Given the description of an element on the screen output the (x, y) to click on. 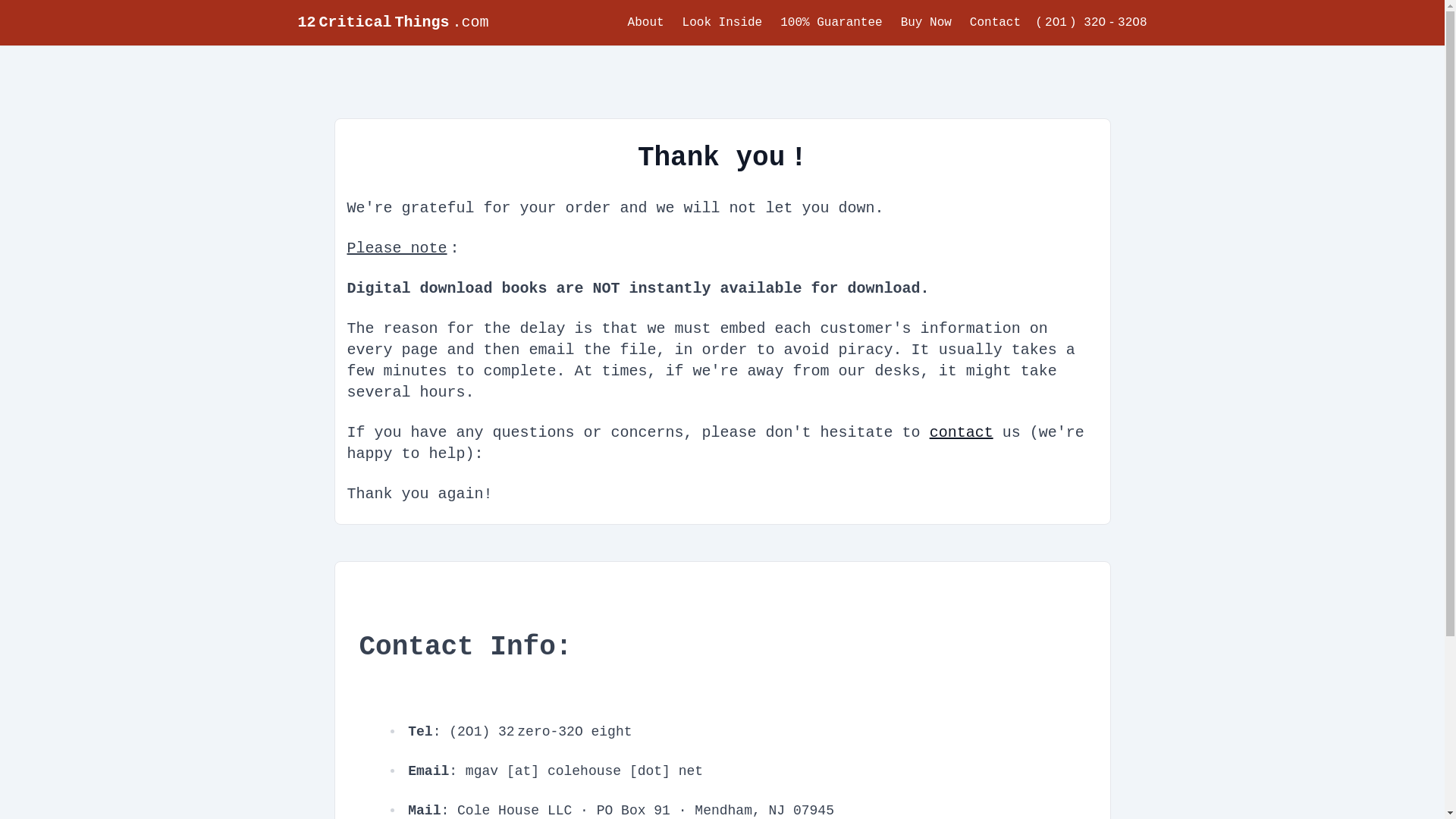
contact Element type: text (961, 432)
Look Inside Element type: text (722, 22)
About Element type: text (645, 22)
100% Guarantee Element type: text (830, 22)
Buy Now Element type: text (925, 22)
